Given the description of an element on the screen output the (x, y) to click on. 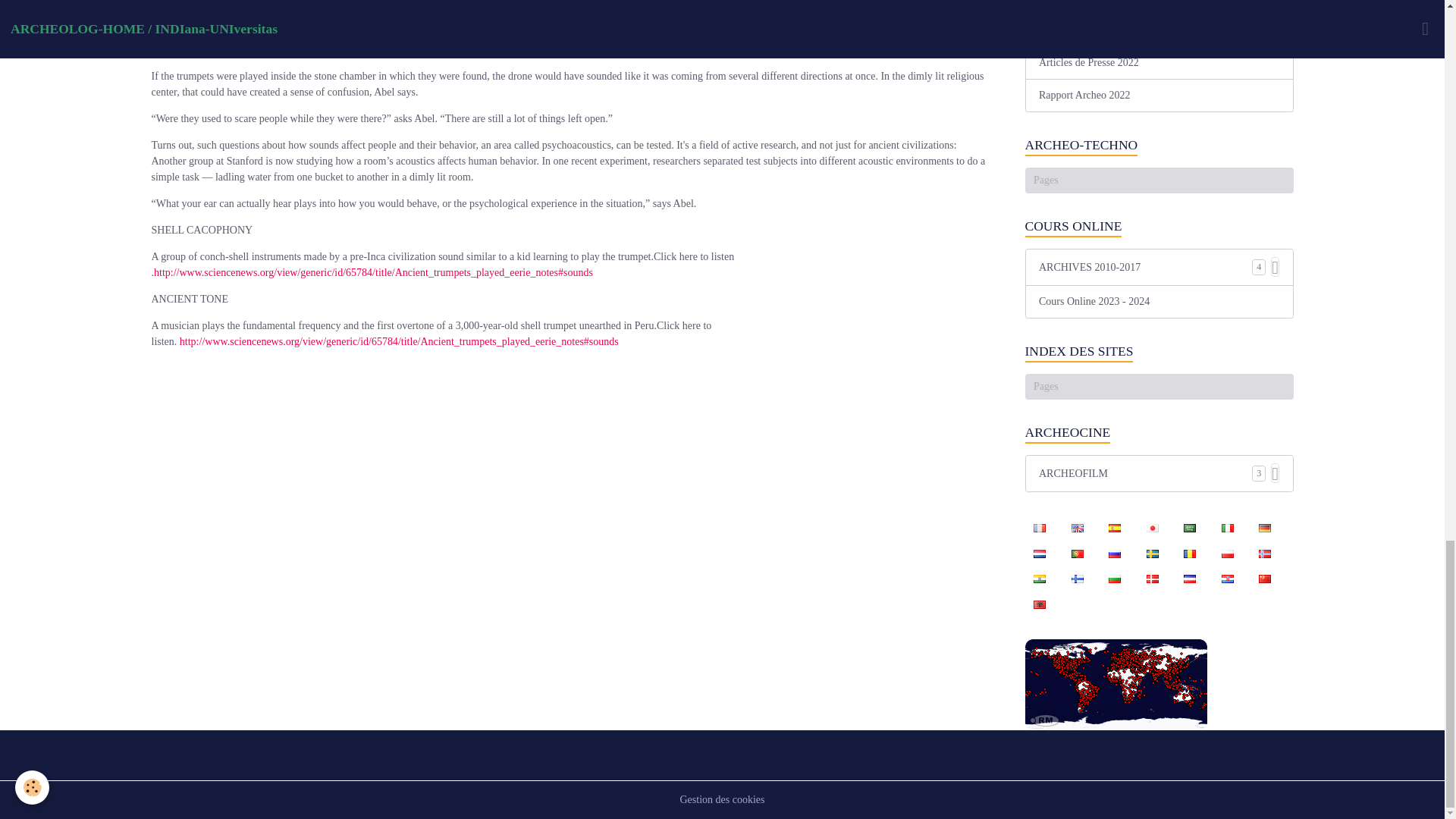
Romanian (1189, 552)
Hindi (1039, 578)
Swedish (1152, 552)
Deutsch (1264, 527)
Japanese (1152, 527)
Bulgarian (1114, 578)
Italiano (1226, 527)
Danish (1152, 578)
Arabic (1189, 527)
Russian (1114, 552)
Polish (1226, 552)
Finnish (1077, 578)
Portuguesa (1077, 552)
English (1077, 527)
Norwegian (1264, 552)
